Given the description of an element on the screen output the (x, y) to click on. 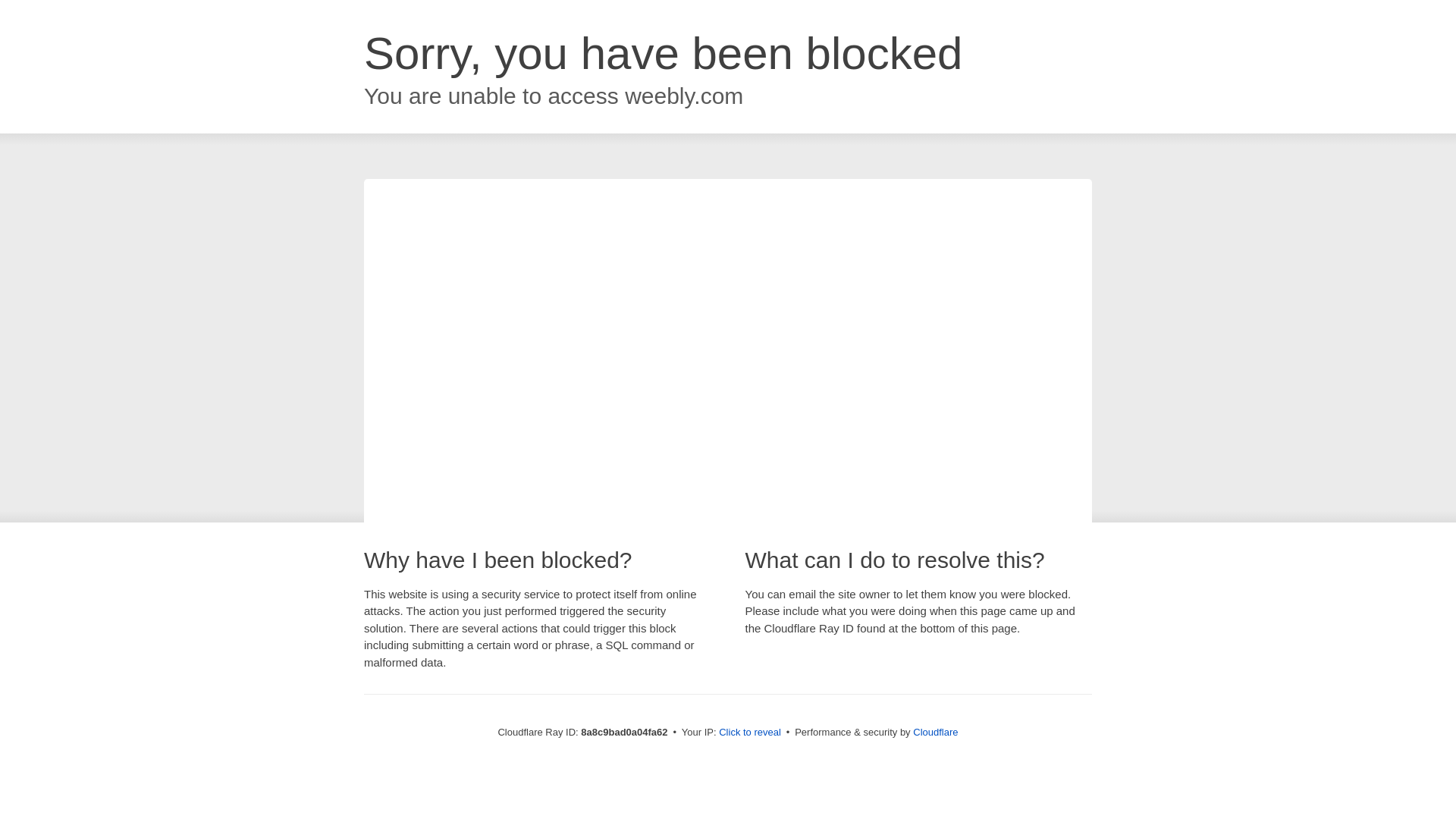
Click to reveal (749, 732)
Cloudflare (935, 731)
